Given the description of an element on the screen output the (x, y) to click on. 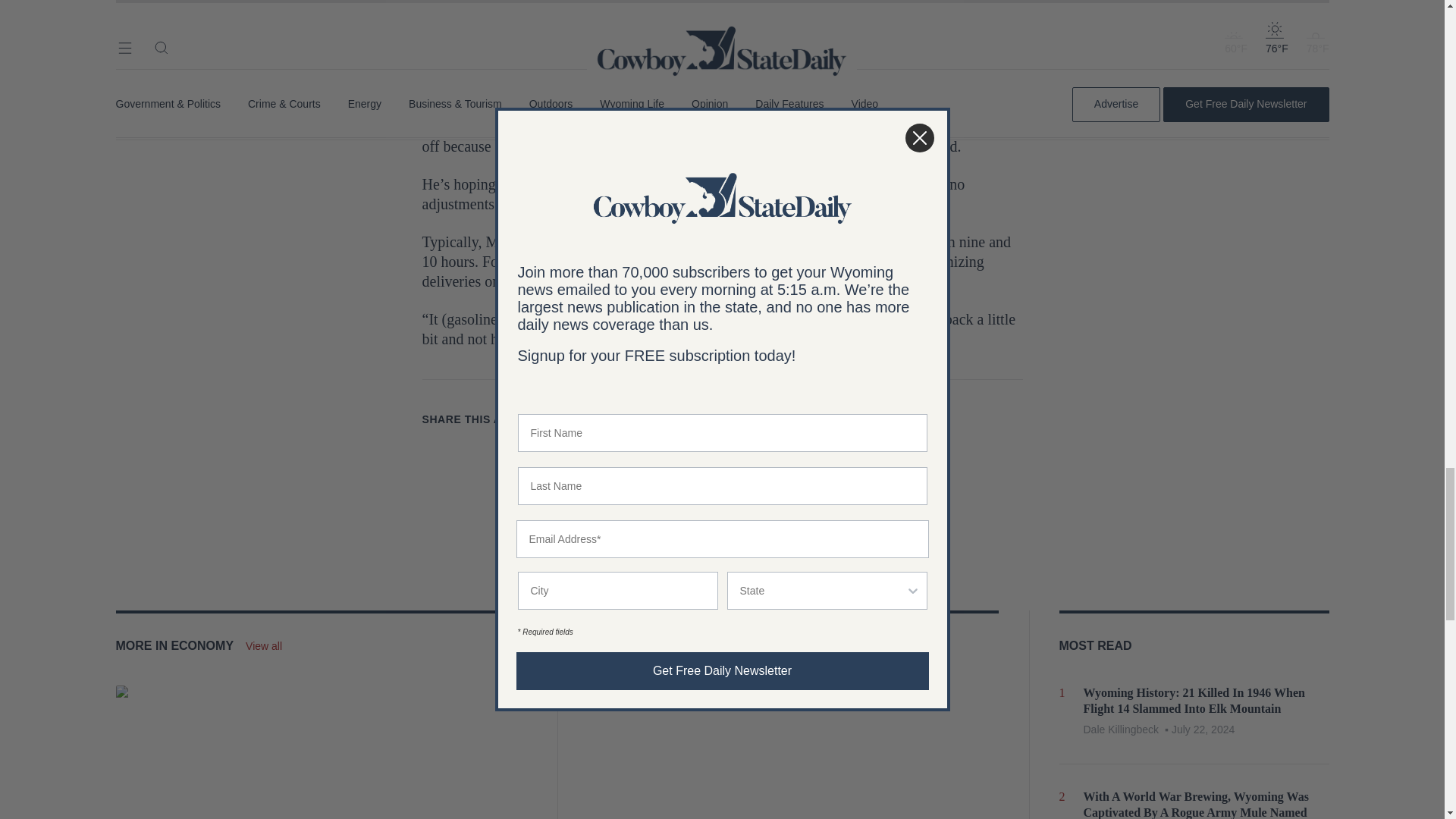
Copy to clipboard (664, 419)
